Given the description of an element on the screen output the (x, y) to click on. 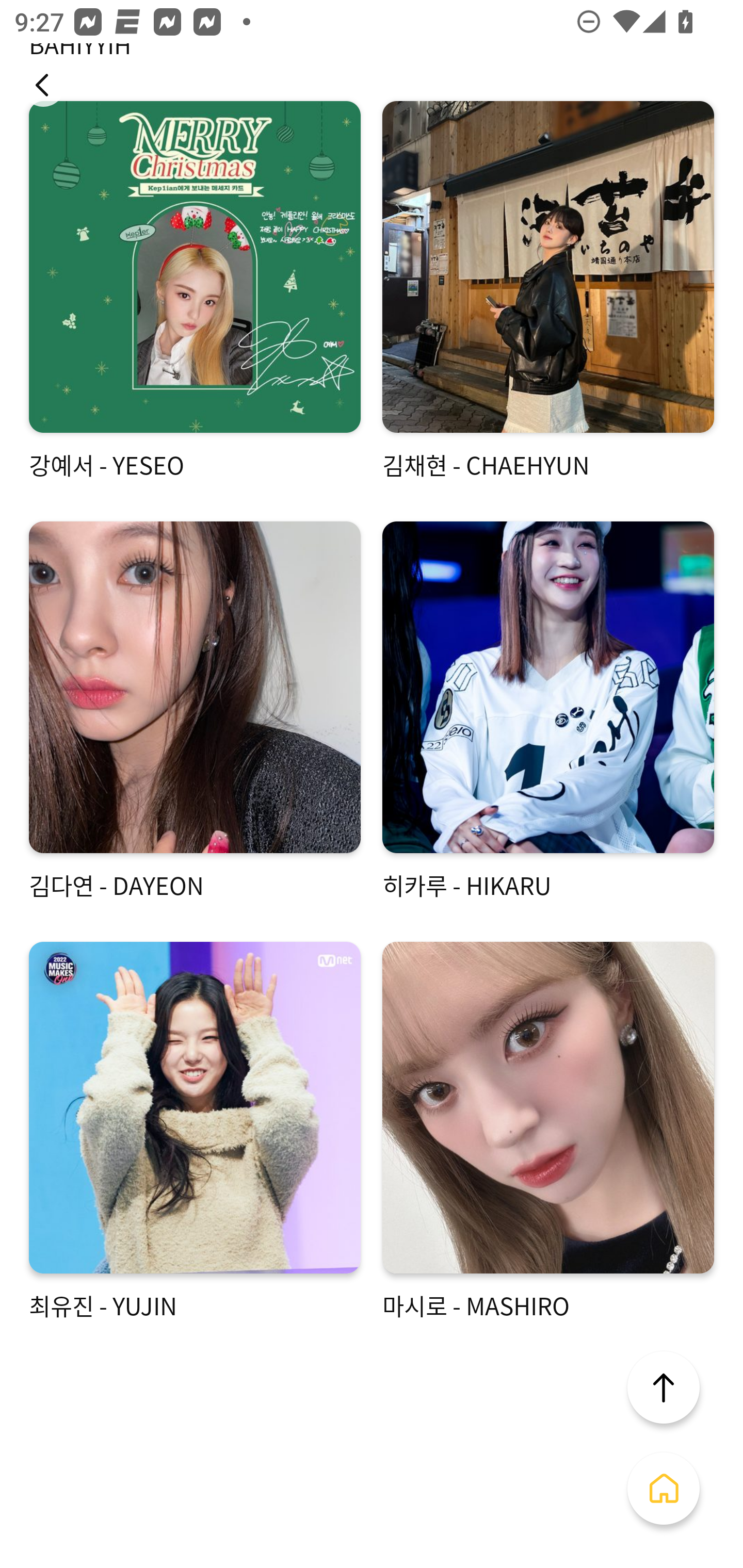
강예서  -  YESEO (194, 290)
김채현  -  CHAEHYUN (548, 290)
김다연  -  DAYEON (194, 711)
히카루  -  HIKARU (548, 711)
최유진  -  YUJIN (194, 1131)
마시로  -  MASHIRO (548, 1131)
